Given the description of an element on the screen output the (x, y) to click on. 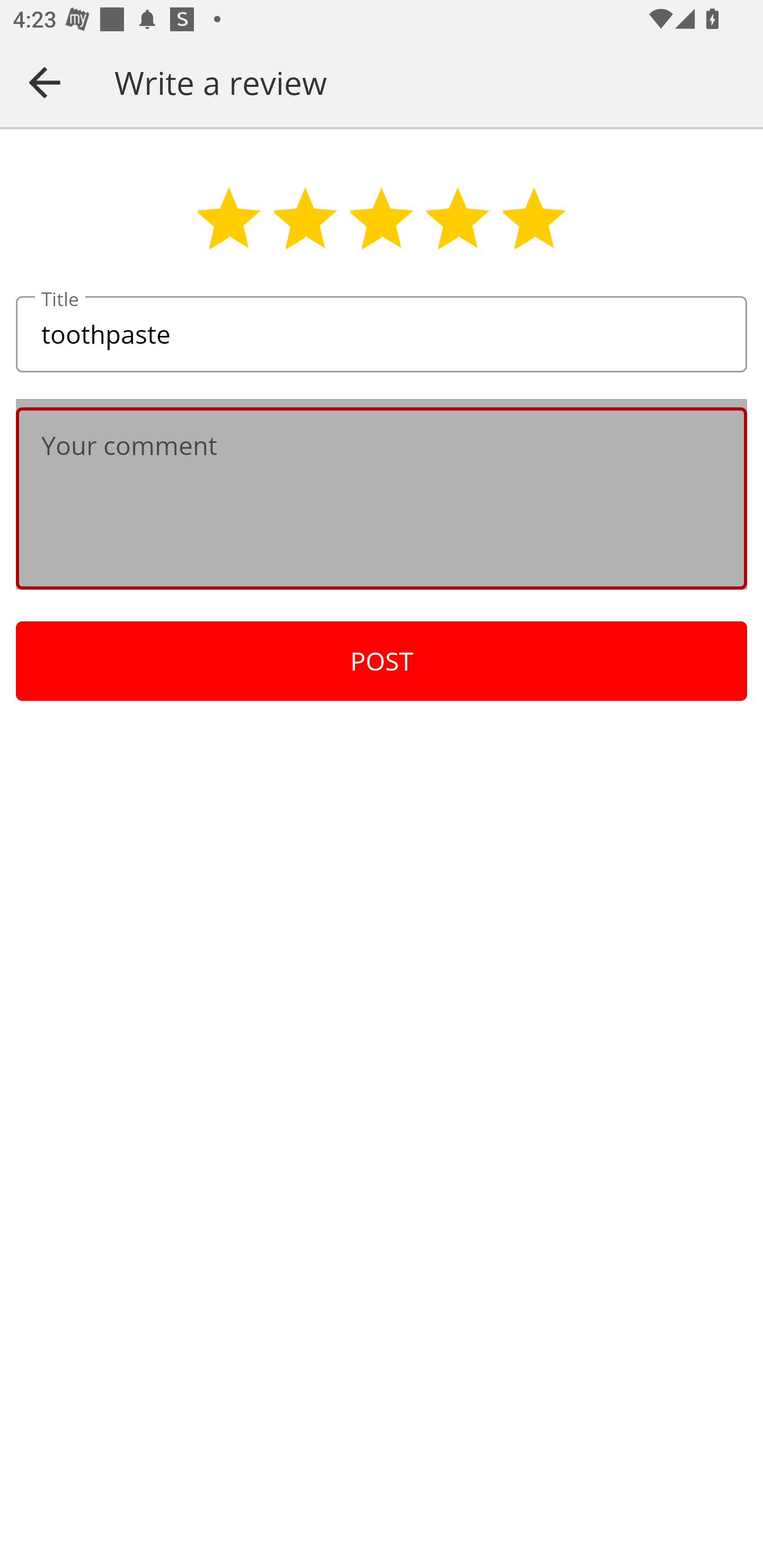
Navigate up (44, 82)
toothpaste (381, 334)
Your comment (381, 498)
POST (381, 660)
